Given the description of an element on the screen output the (x, y) to click on. 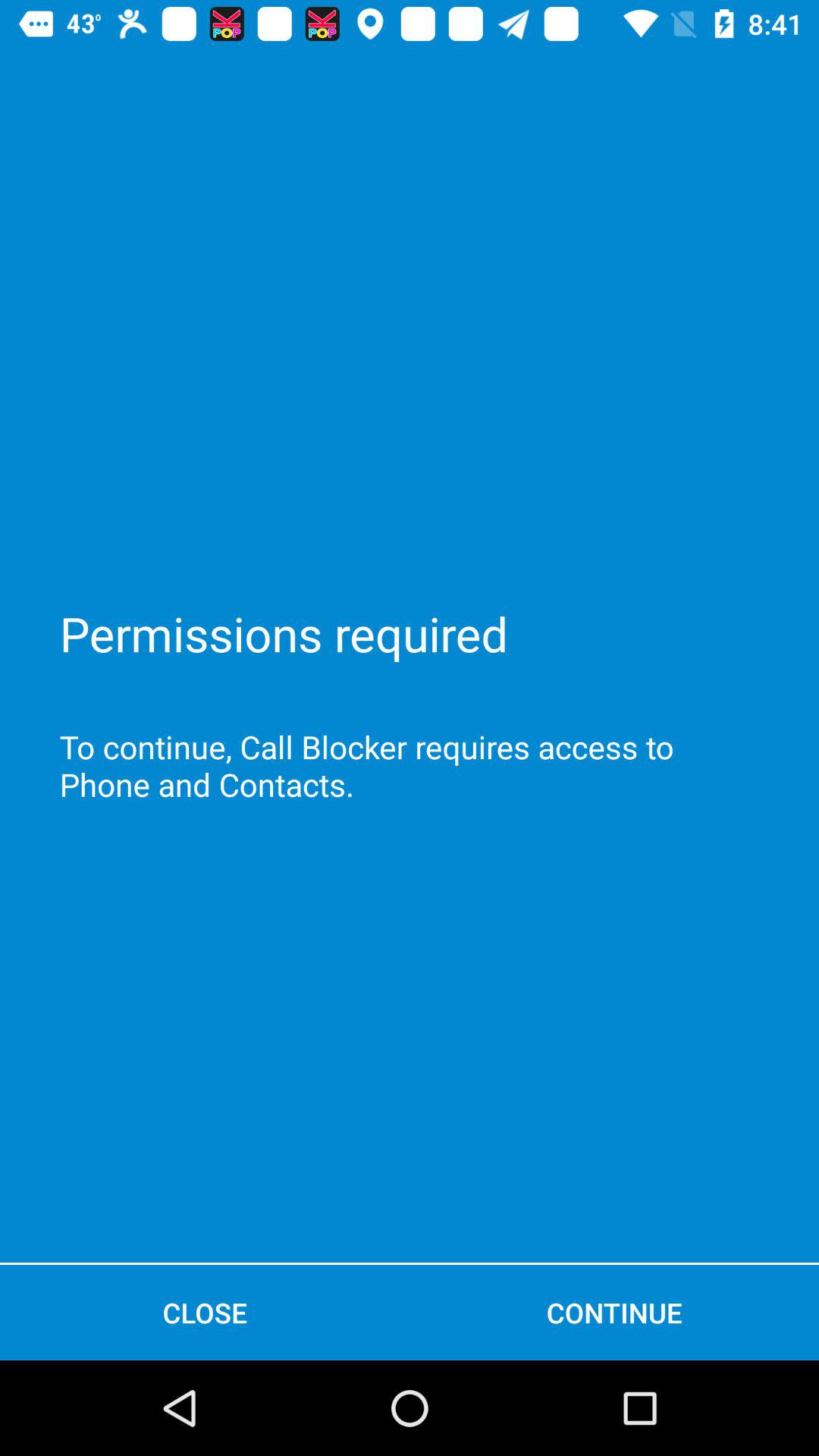
click the icon next to the continue item (204, 1312)
